Given the description of an element on the screen output the (x, y) to click on. 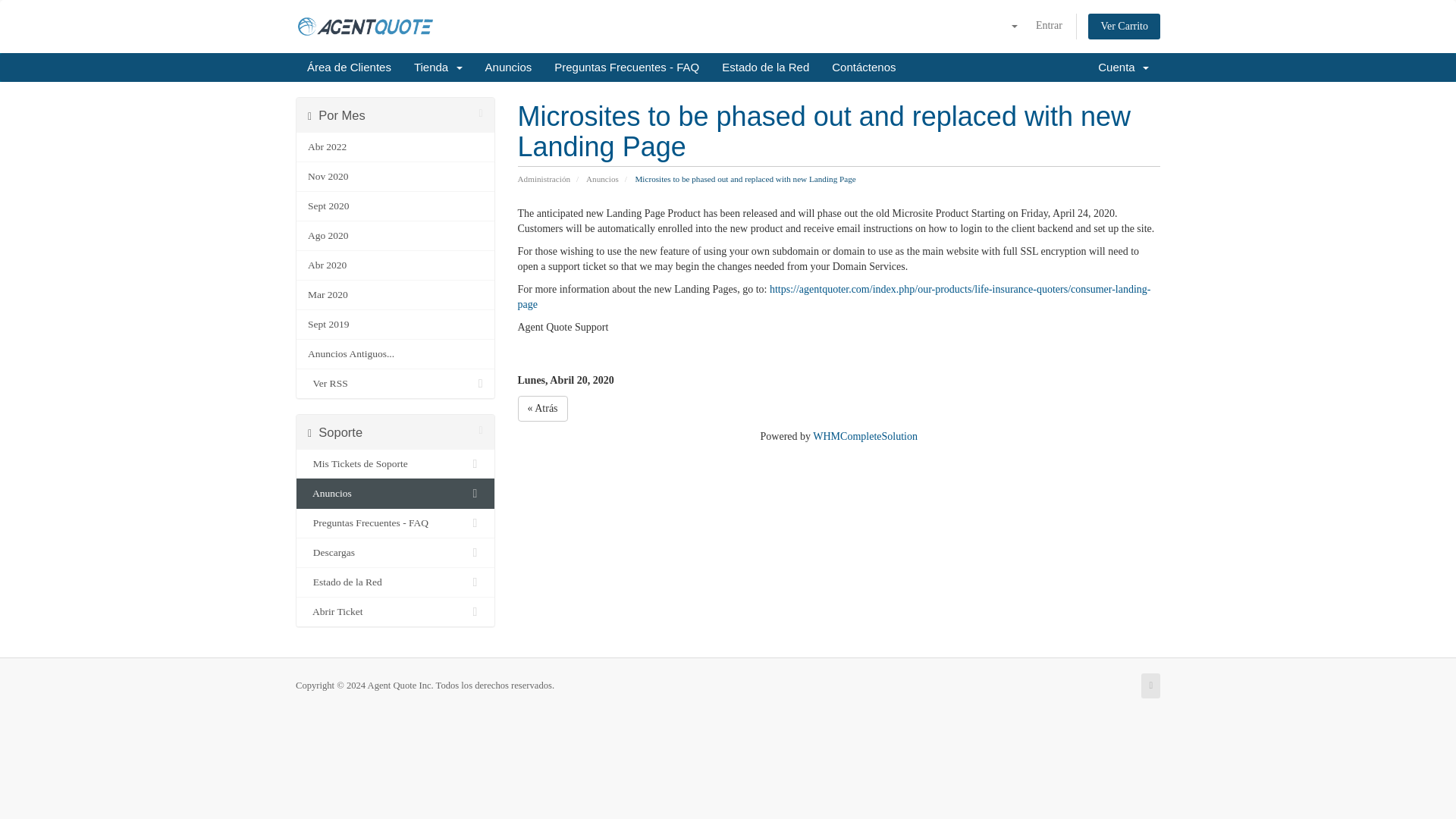
Ver Carrito (1123, 26)
Entrar (1048, 25)
Tienda   (438, 67)
